Given the description of an element on the screen output the (x, y) to click on. 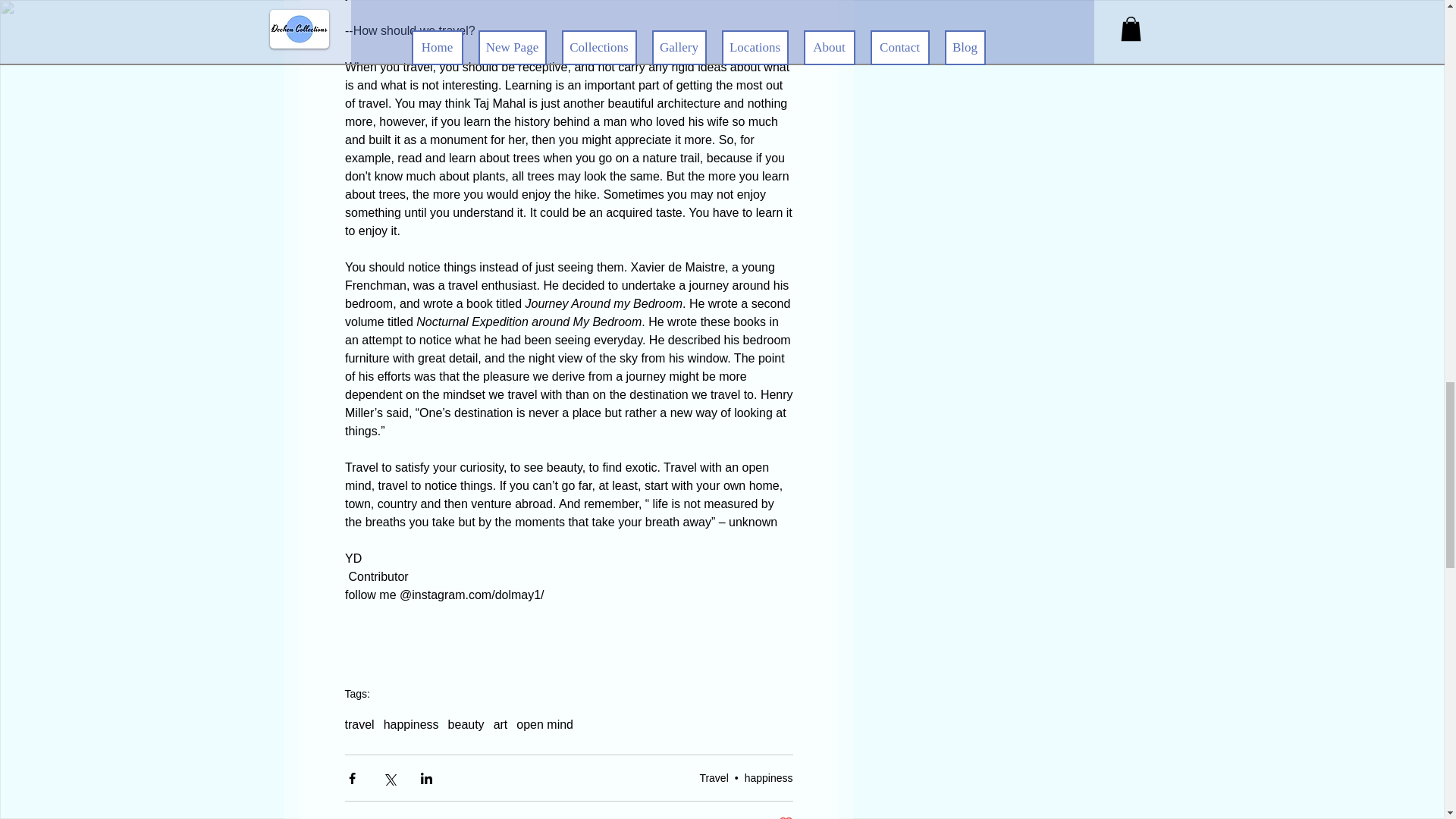
Travel (713, 777)
beauty (466, 725)
happiness (768, 777)
happiness (780, 816)
art (411, 725)
travel (500, 725)
open mind (358, 725)
